Given the description of an element on the screen output the (x, y) to click on. 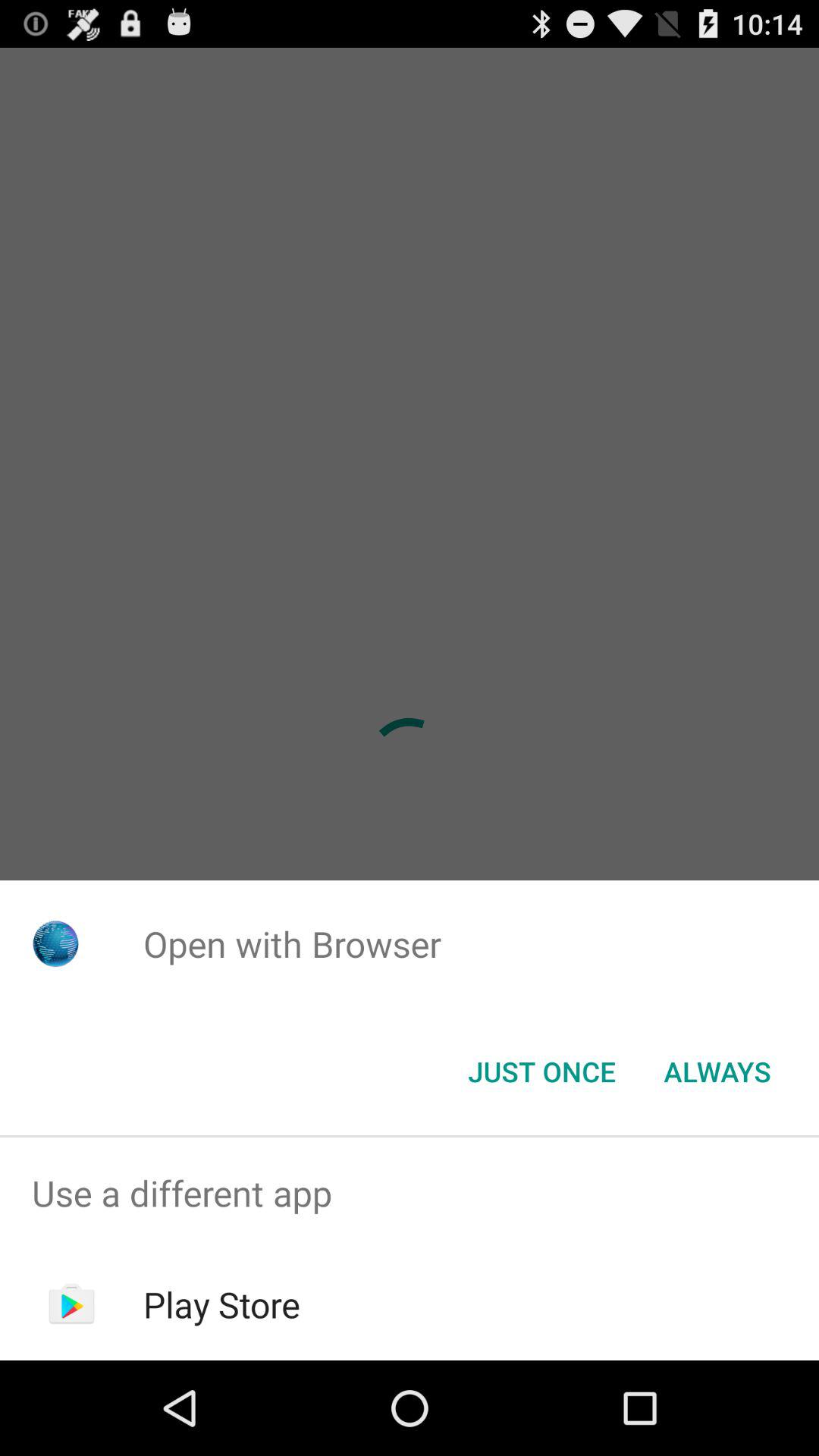
turn on the play store app (221, 1304)
